Given the description of an element on the screen output the (x, y) to click on. 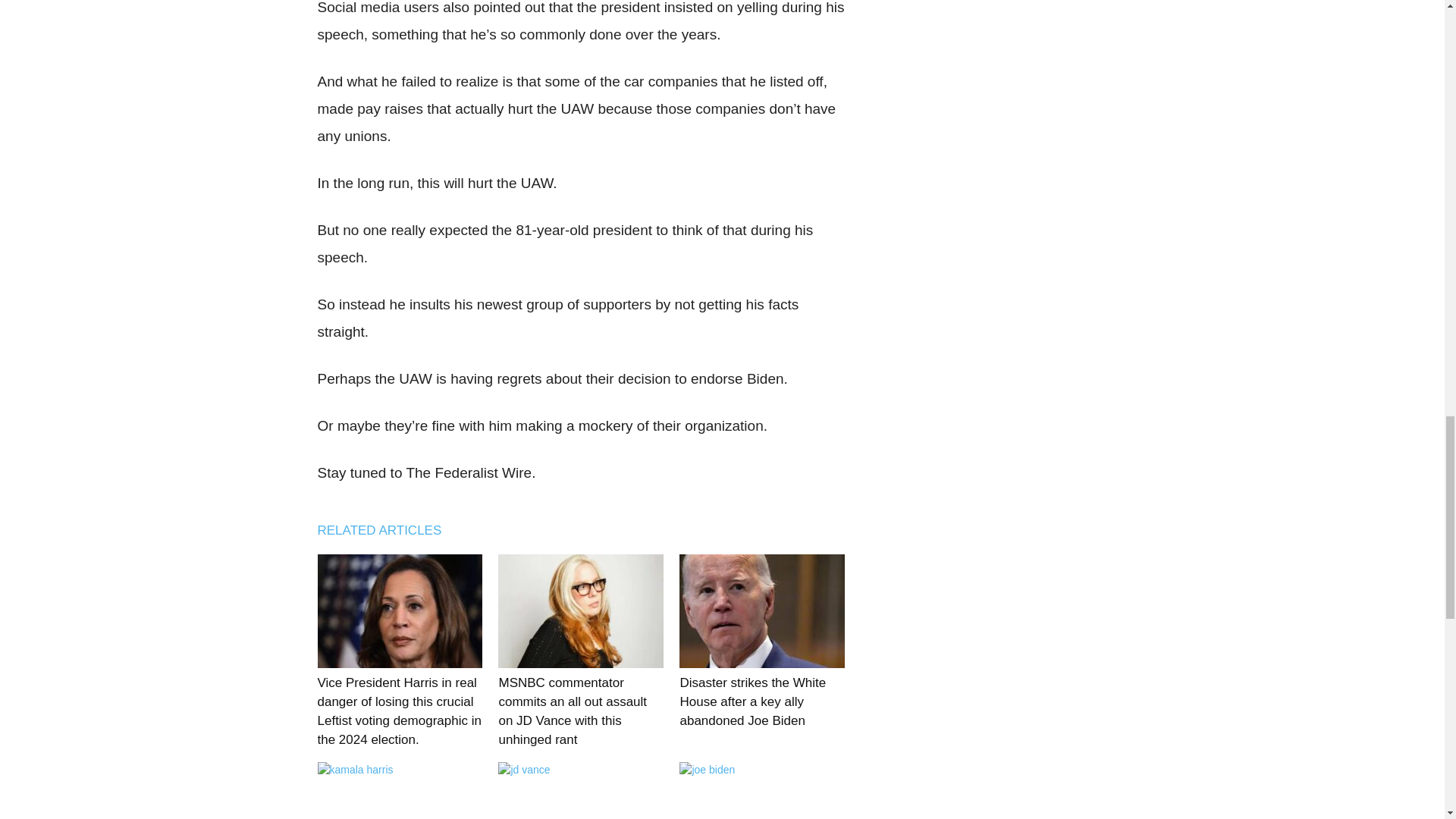
RELATED ARTICLES (387, 530)
